Given the description of an element on the screen output the (x, y) to click on. 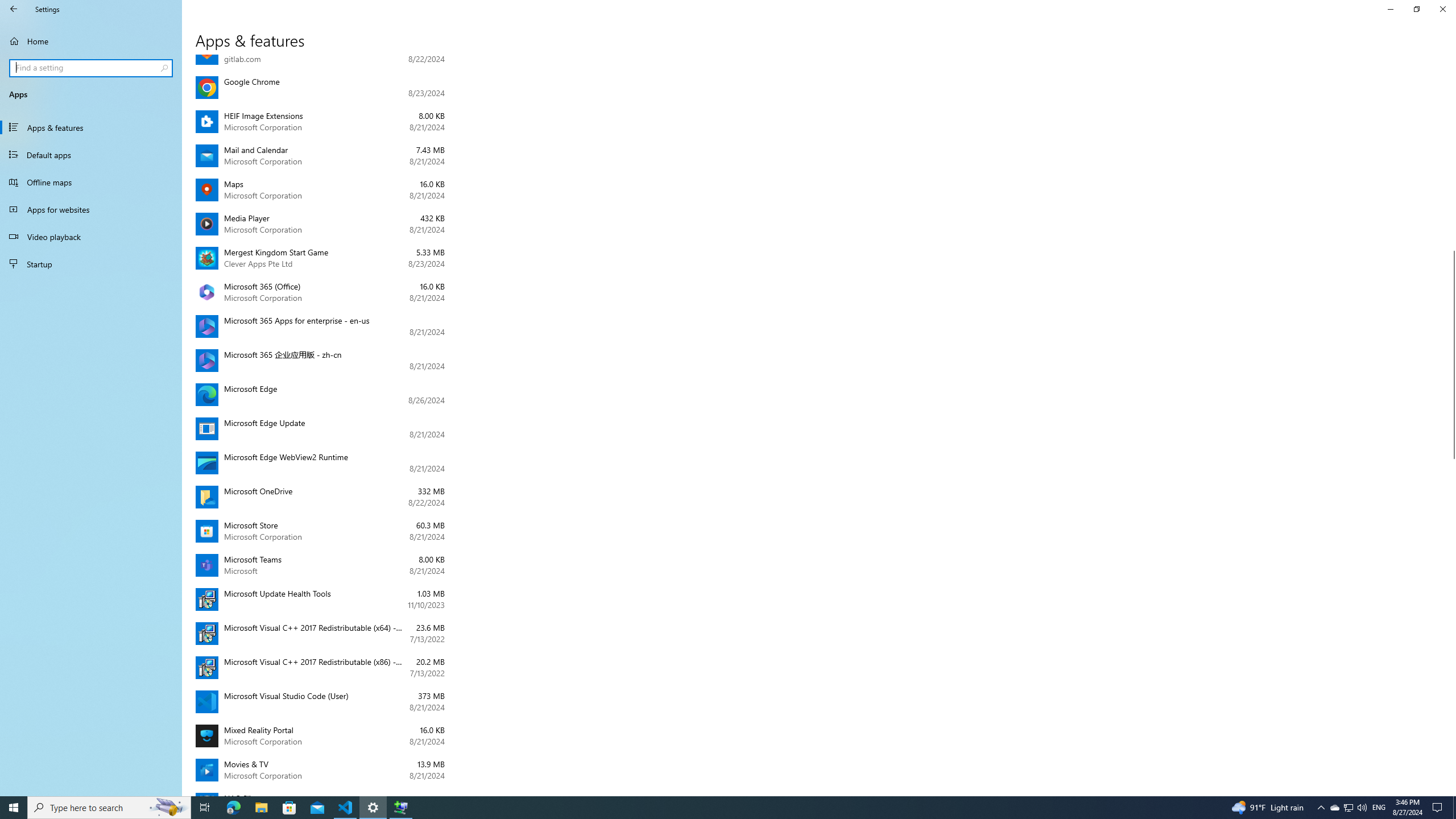
Apps for websites (91, 208)
